Given the description of an element on the screen output the (x, y) to click on. 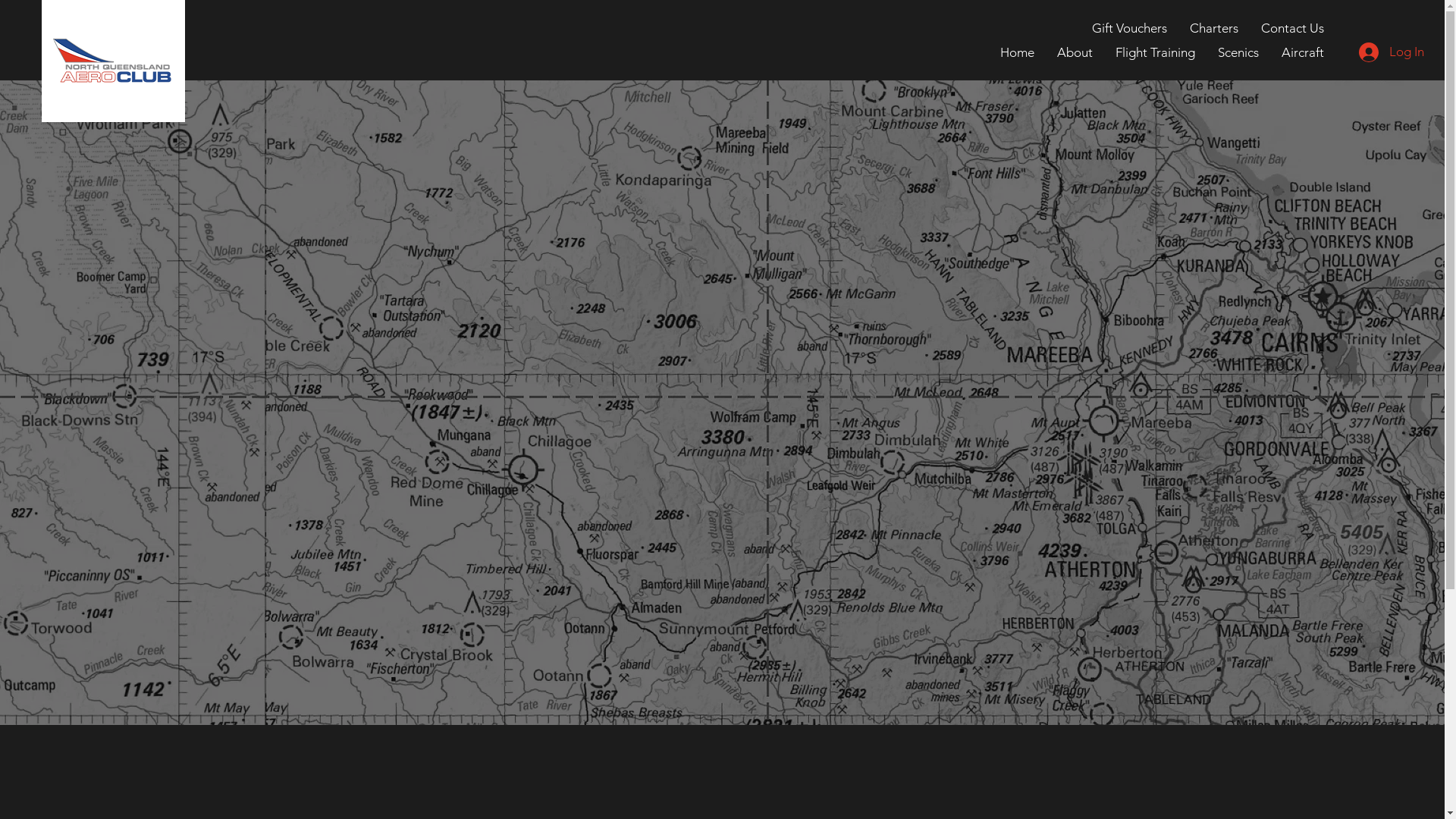
Contact Us Element type: text (1292, 28)
Home Element type: text (1016, 52)
Gift Vouchers Element type: text (1129, 28)
Charters Element type: text (1213, 28)
Scenics Element type: text (1238, 52)
Log In Element type: text (1386, 51)
